Given the description of an element on the screen output the (x, y) to click on. 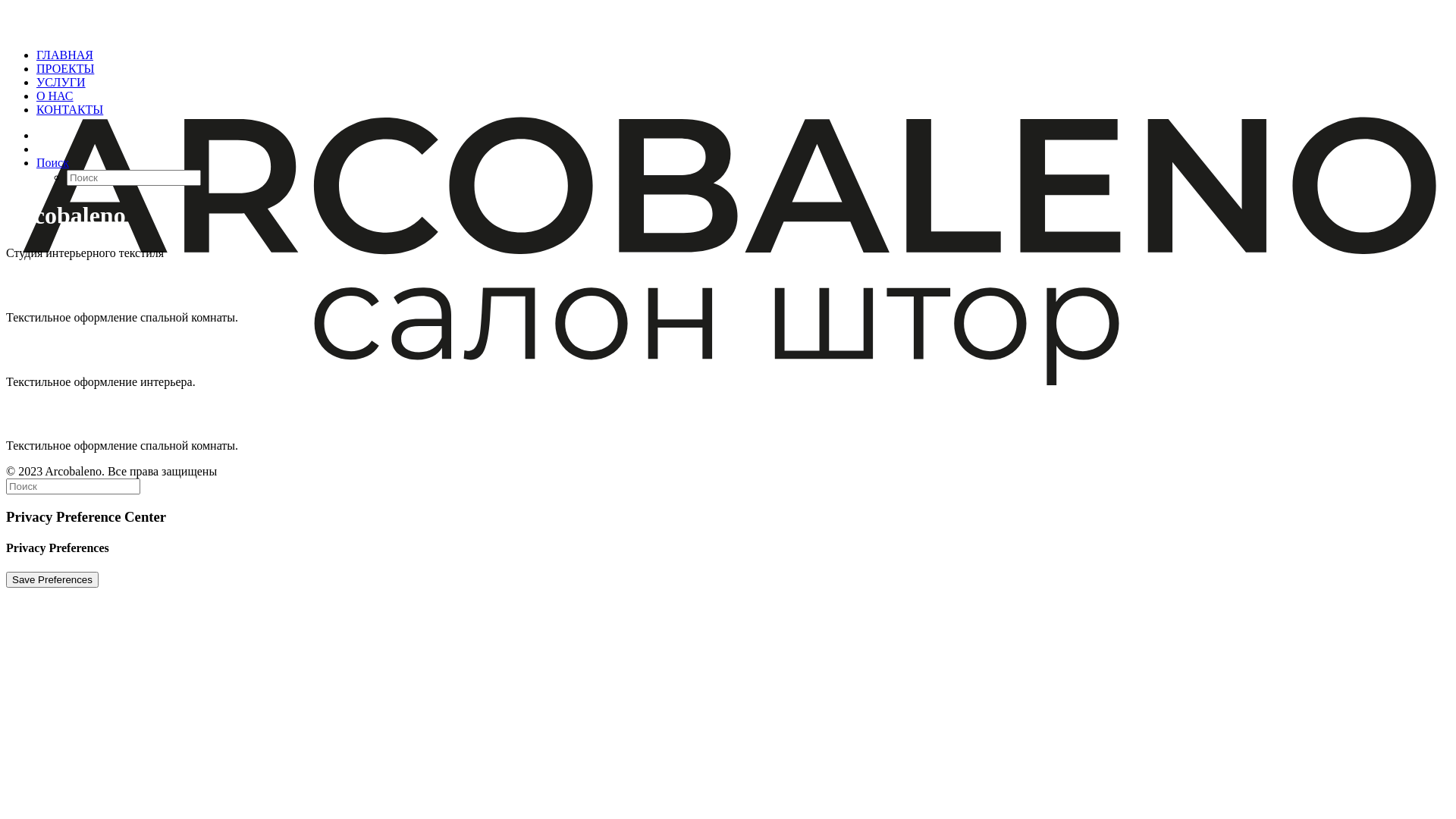
Save Preferences Element type: text (52, 579)
Search for: Element type: hover (73, 486)
